Given the description of an element on the screen output the (x, y) to click on. 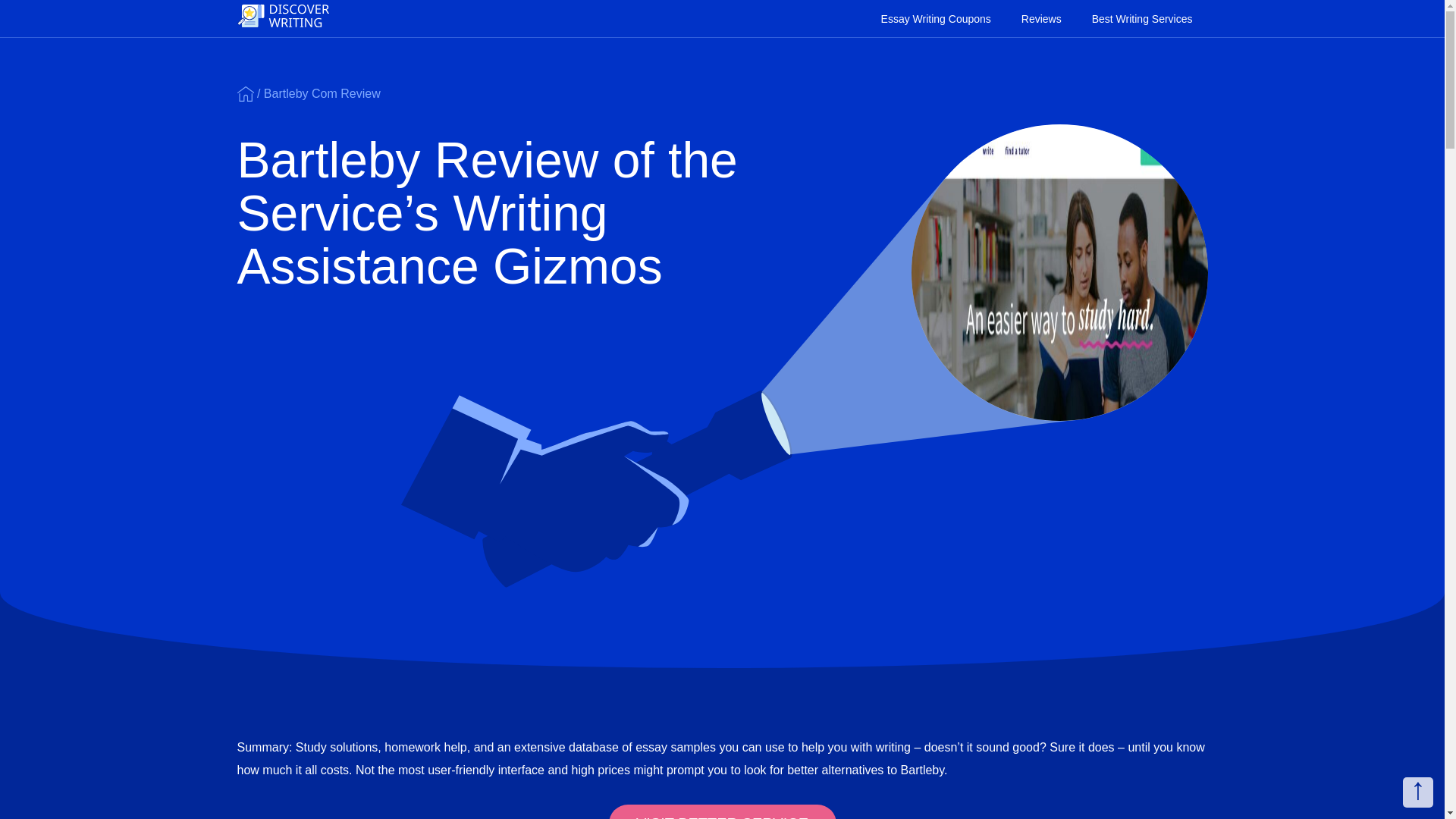
Up (1417, 792)
